Given the description of an element on the screen output the (x, y) to click on. 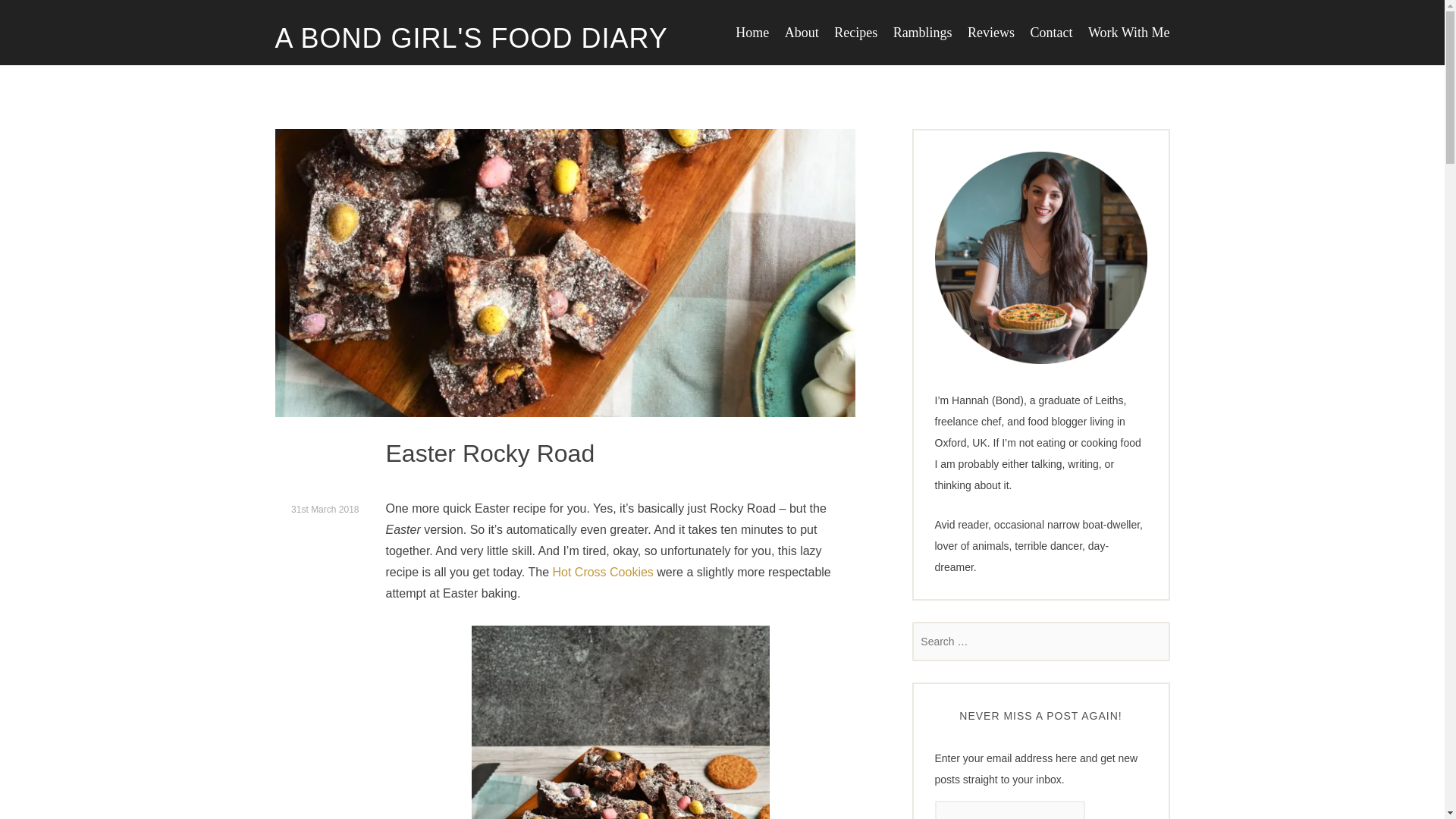
Search (34, 15)
Contact (1051, 32)
Reviews (991, 32)
A BOND GIRL'S FOOD DIARY (470, 38)
Ramblings (922, 32)
Work With Me (1128, 32)
Hot Cross Cookies (601, 572)
Recipes (855, 32)
31st March 2018 (324, 509)
About (801, 32)
